Given the description of an element on the screen output the (x, y) to click on. 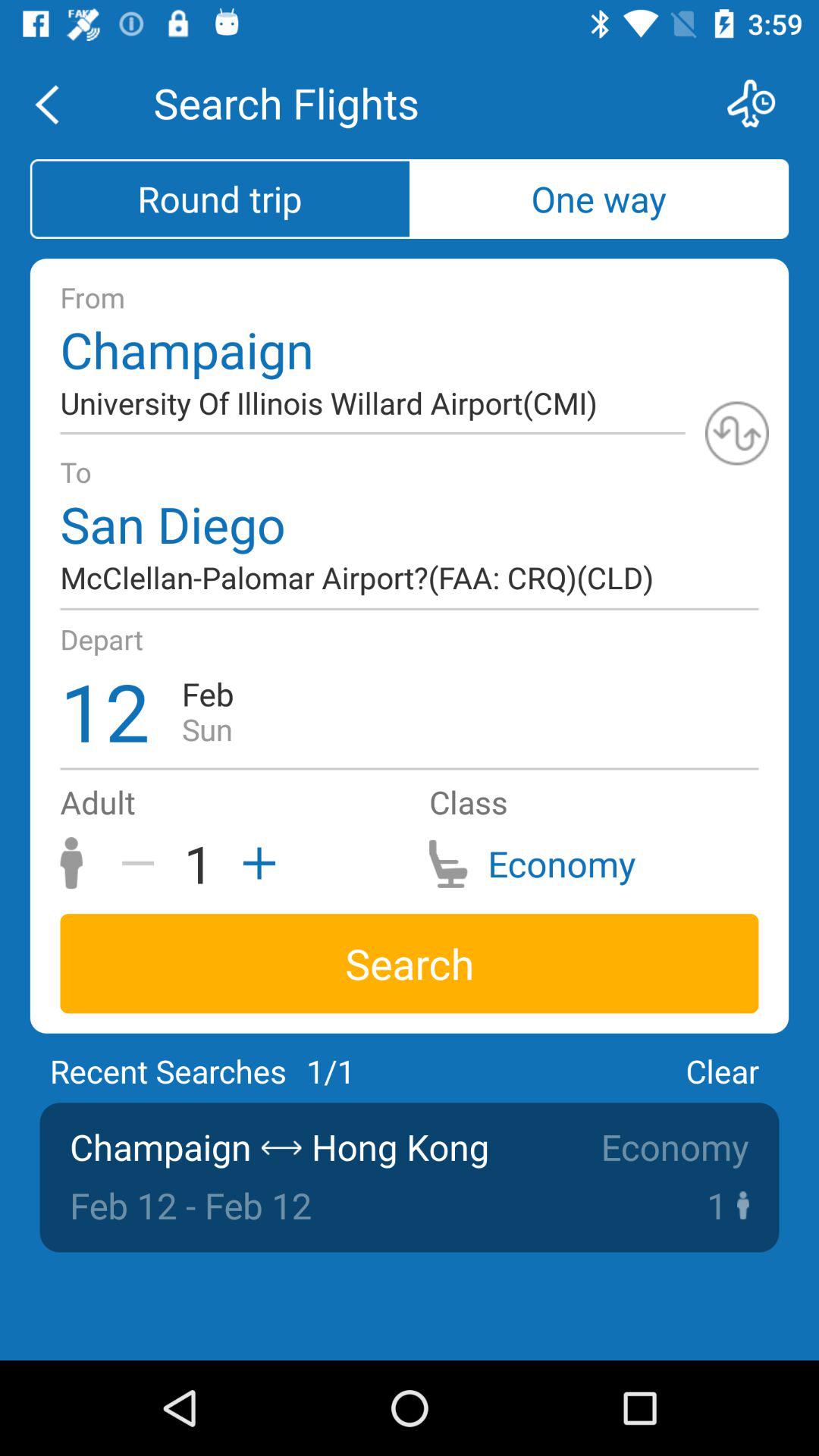
choose item above the economy (722, 1070)
